Given the description of an element on the screen output the (x, y) to click on. 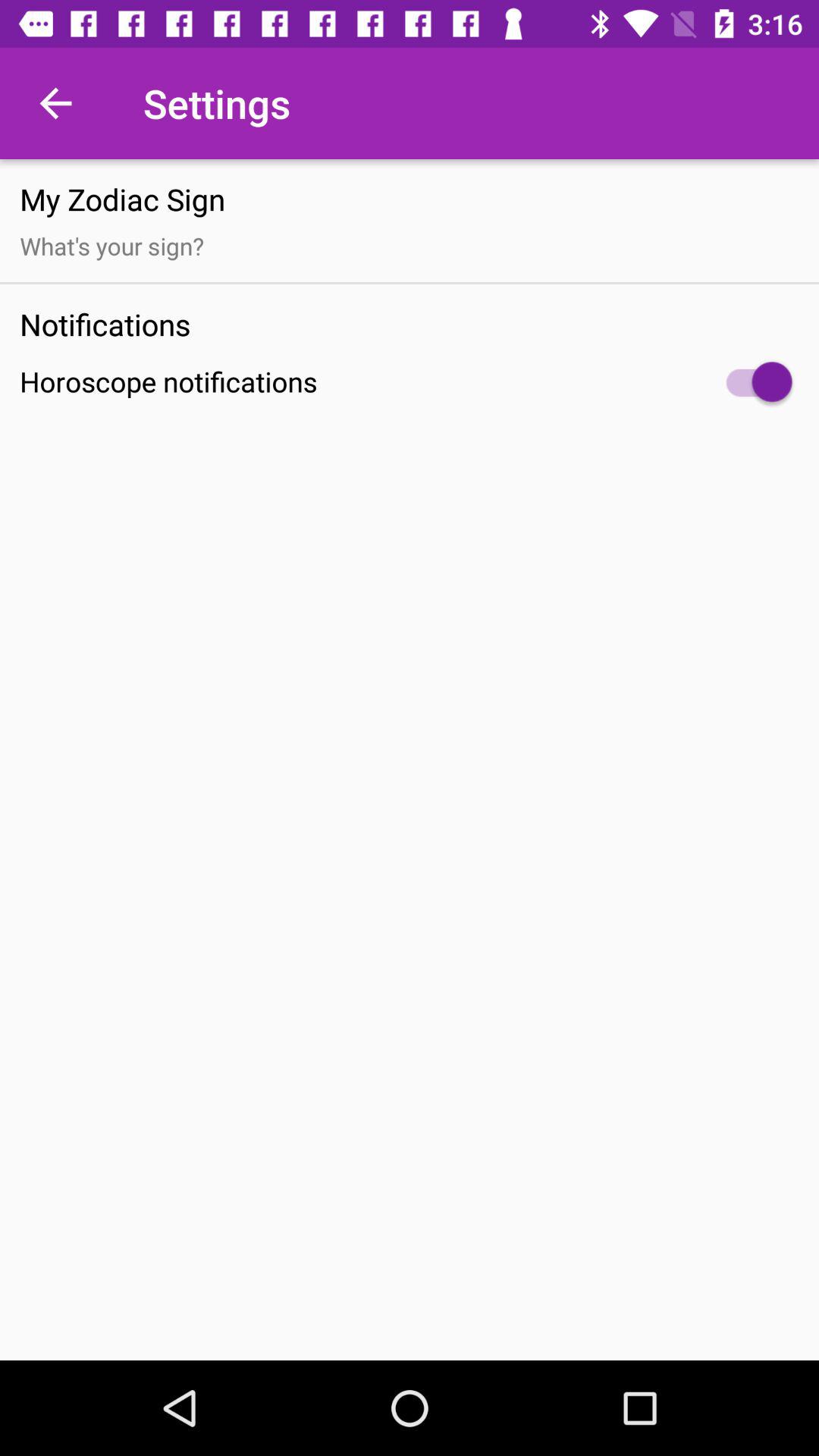
tap item below notifications item (409, 381)
